Given the description of an element on the screen output the (x, y) to click on. 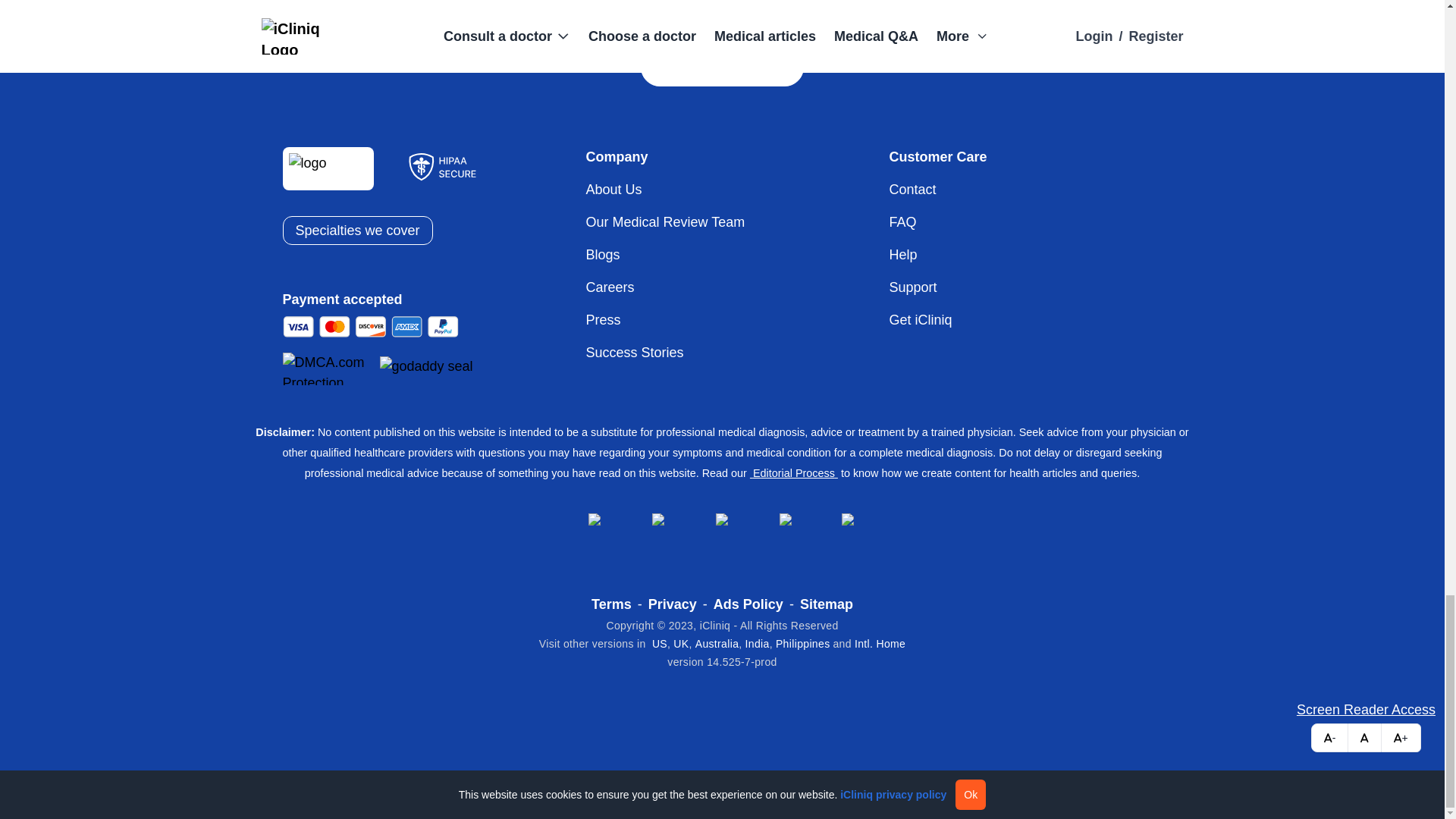
godaddy ssl seal (428, 368)
iCliniq America (659, 644)
DMCA.com Protection Status (328, 368)
instagram (723, 520)
iCliniq Home (879, 644)
youtube (849, 520)
iCliniq UK (680, 644)
iCliniq India (757, 644)
linkedin (659, 520)
facebook (596, 520)
